Given the description of an element on the screen output the (x, y) to click on. 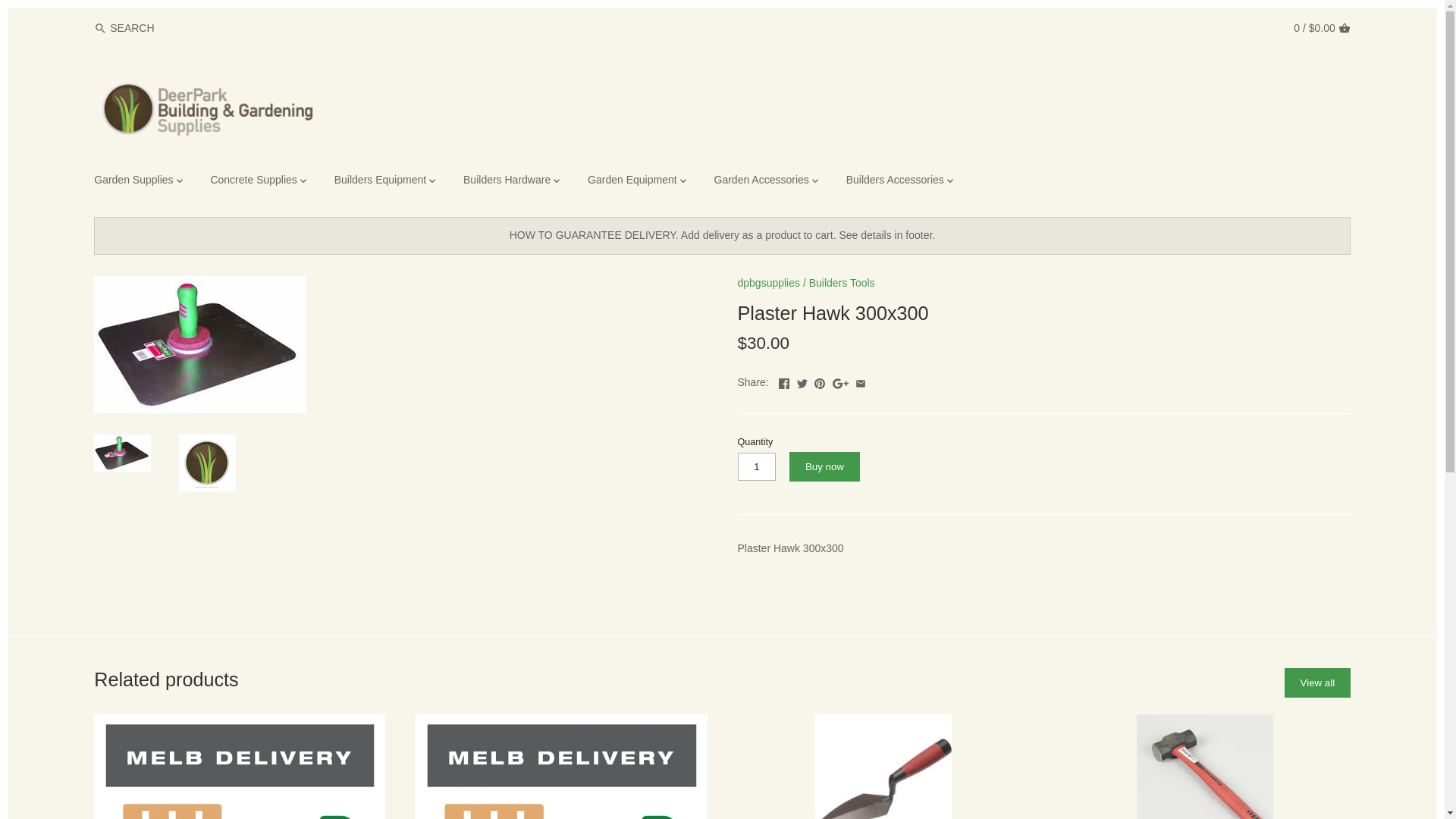
Pinterest Element type: text (819, 380)
GooglePlus Element type: text (840, 380)
Facebook Element type: text (783, 380)
Builders Equipment Element type: text (379, 182)
Builders Hardware Element type: text (506, 182)
Builders Tools Element type: text (842, 282)
Builders Accessories Element type: text (894, 182)
Garden Equipment Element type: text (632, 182)
Twitter Element type: text (802, 380)
View all Element type: text (1317, 682)
Garden Supplies Element type: text (138, 182)
Email Element type: text (860, 380)
Buy now Element type: text (824, 466)
Garden Accessories Element type: text (761, 182)
dpbgsupplies Element type: text (768, 282)
0 / $0.00 CART Element type: text (1321, 27)
Concrete Supplies Element type: text (253, 182)
Search Element type: text (100, 28)
